Given the description of an element on the screen output the (x, y) to click on. 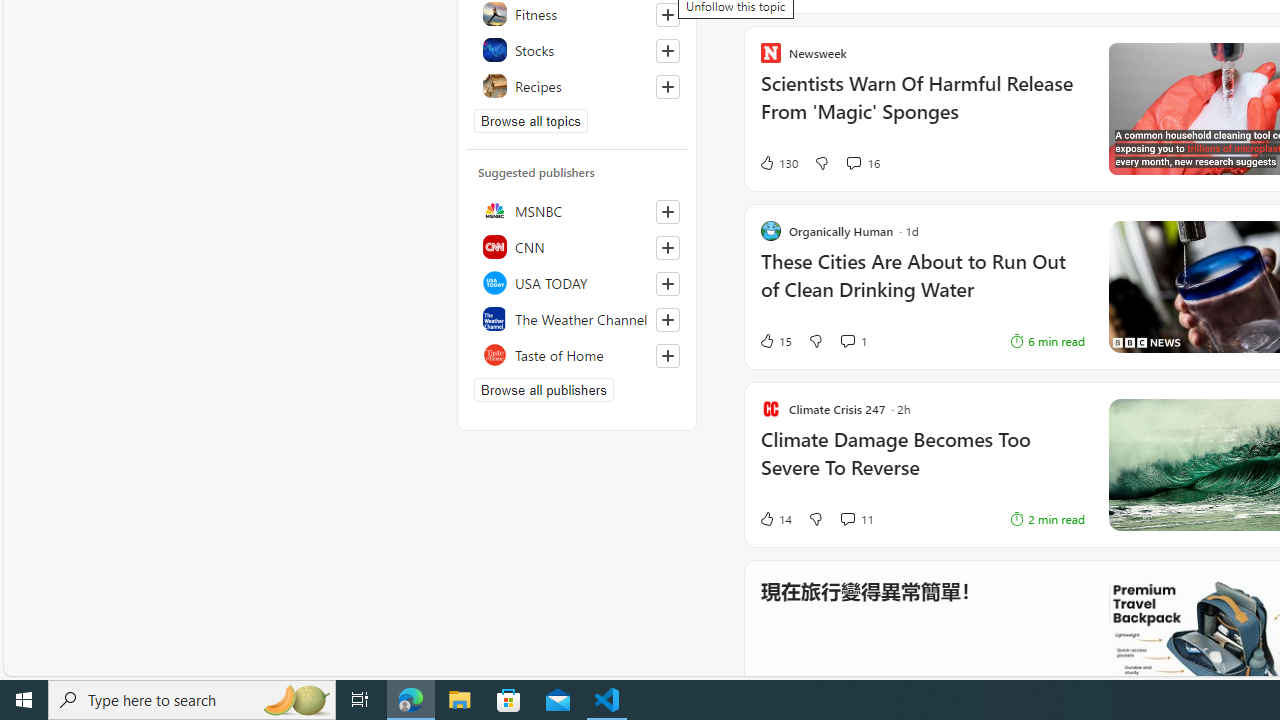
Taste of Home (577, 354)
Climate Damage Becomes Too Severe To Reverse (922, 463)
Browse all publishers (543, 389)
CNN (577, 246)
The Weather Channel (577, 318)
USA TODAY (577, 282)
15 Like (968, 340)
MSNBC (577, 210)
View comments 11 Comment (847, 519)
Follow this source (667, 355)
130 Like (778, 162)
